Given the description of an element on the screen output the (x, y) to click on. 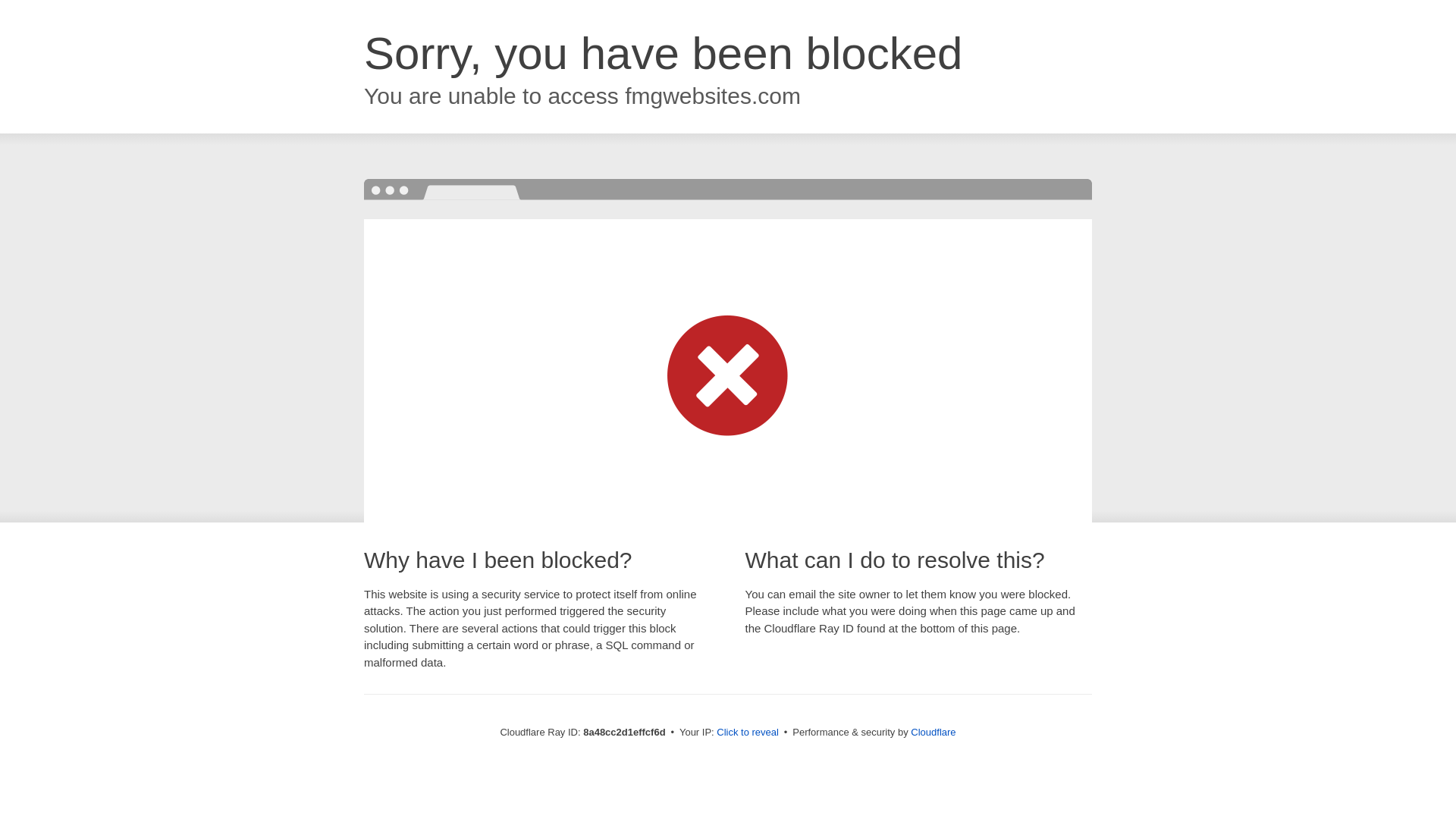
Click to reveal (747, 732)
Cloudflare (933, 731)
